Given the description of an element on the screen output the (x, y) to click on. 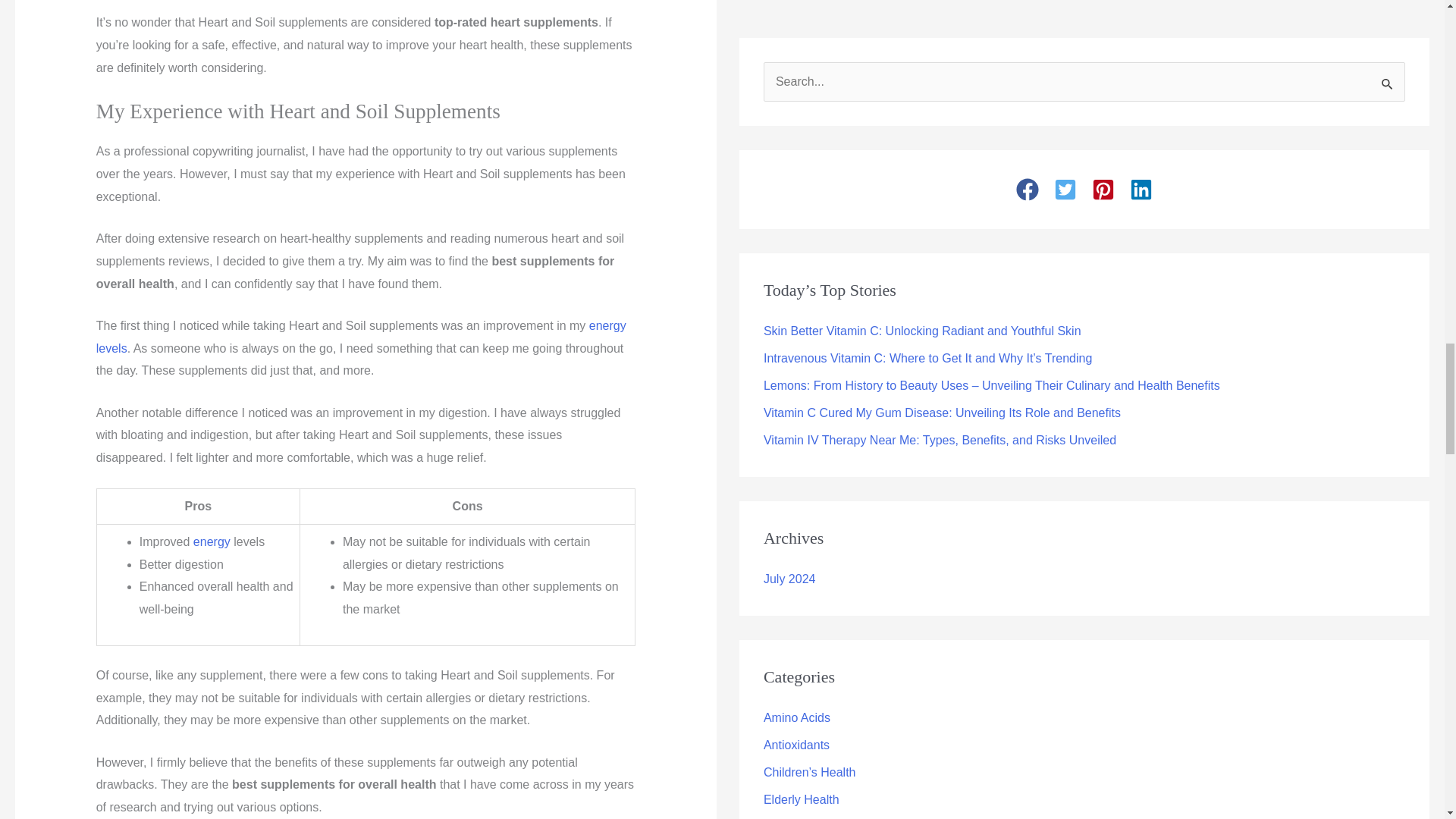
energy levels (361, 336)
energy (211, 541)
